Given the description of an element on the screen output the (x, y) to click on. 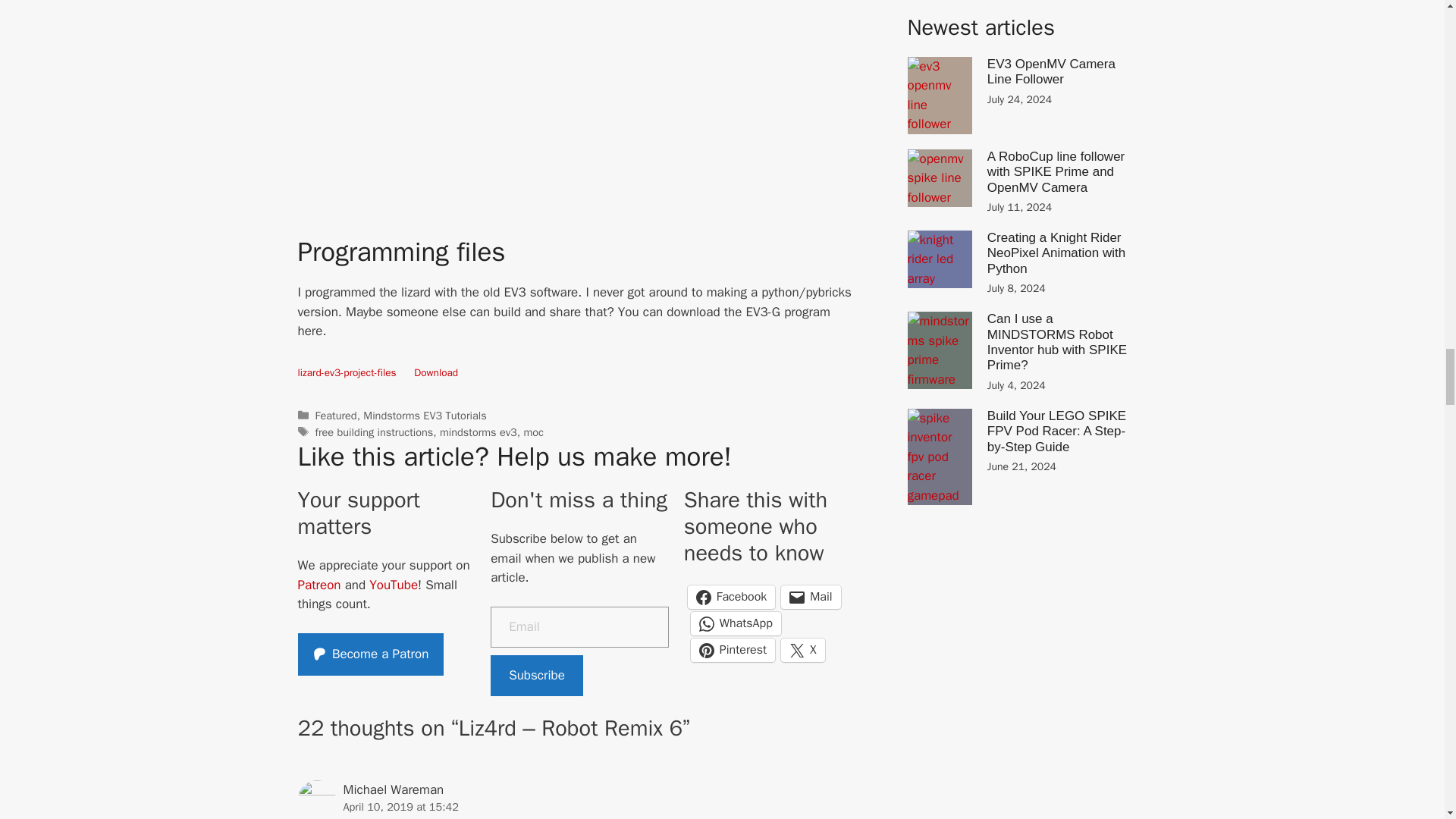
Please fill in this field. (579, 626)
